Given the description of an element on the screen output the (x, y) to click on. 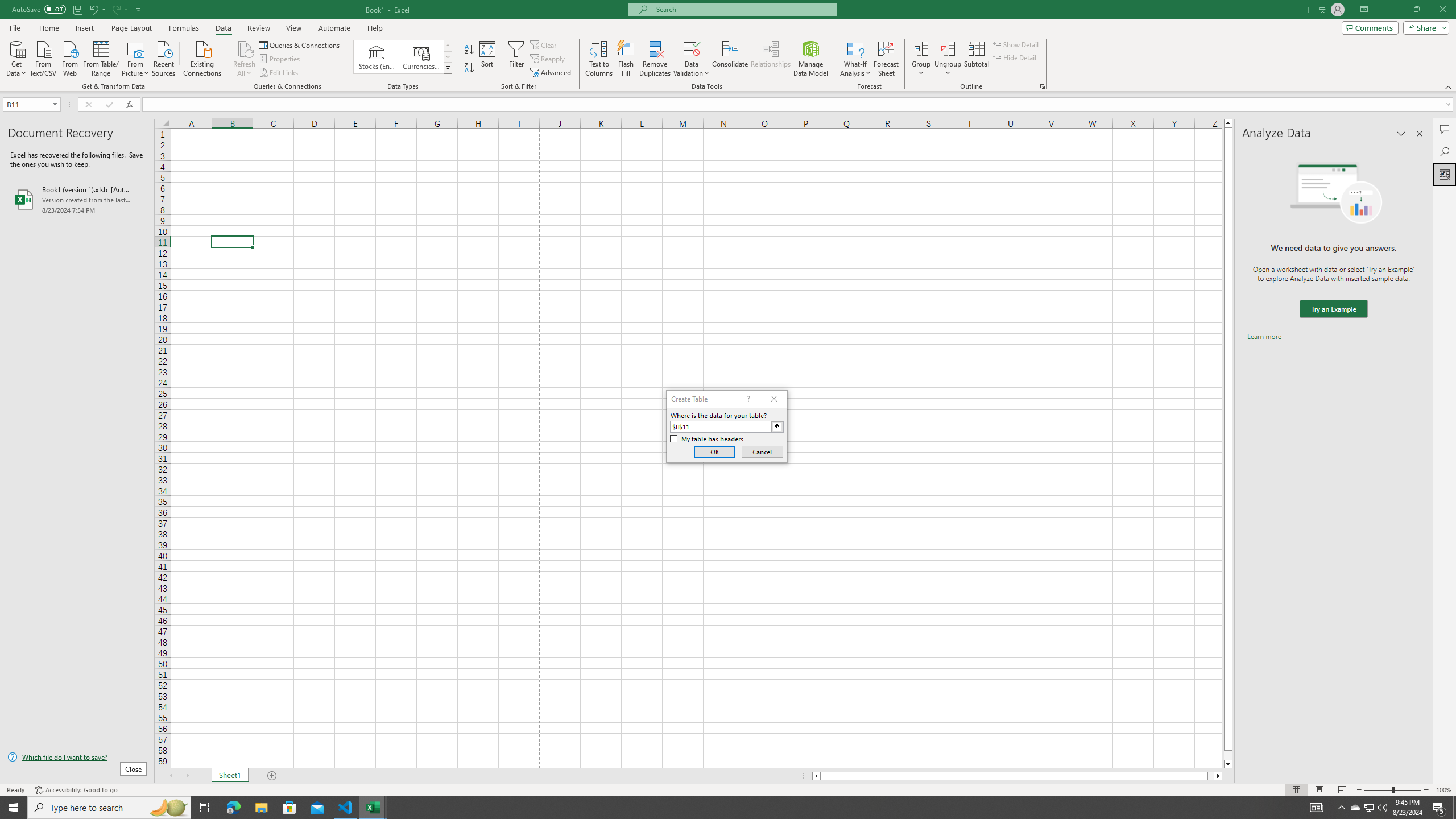
Redo (119, 9)
Consolidate... (729, 58)
Clear (544, 44)
Scroll Right (187, 775)
Forecast Sheet (885, 58)
Collapse the Ribbon (1448, 86)
Automate (334, 28)
Learn more (1264, 336)
Sort A to Z (469, 49)
Class: NetUIImage (447, 68)
Task Pane Options (1400, 133)
Undo (92, 9)
Page Break Preview (1342, 790)
